Given the description of an element on the screen output the (x, y) to click on. 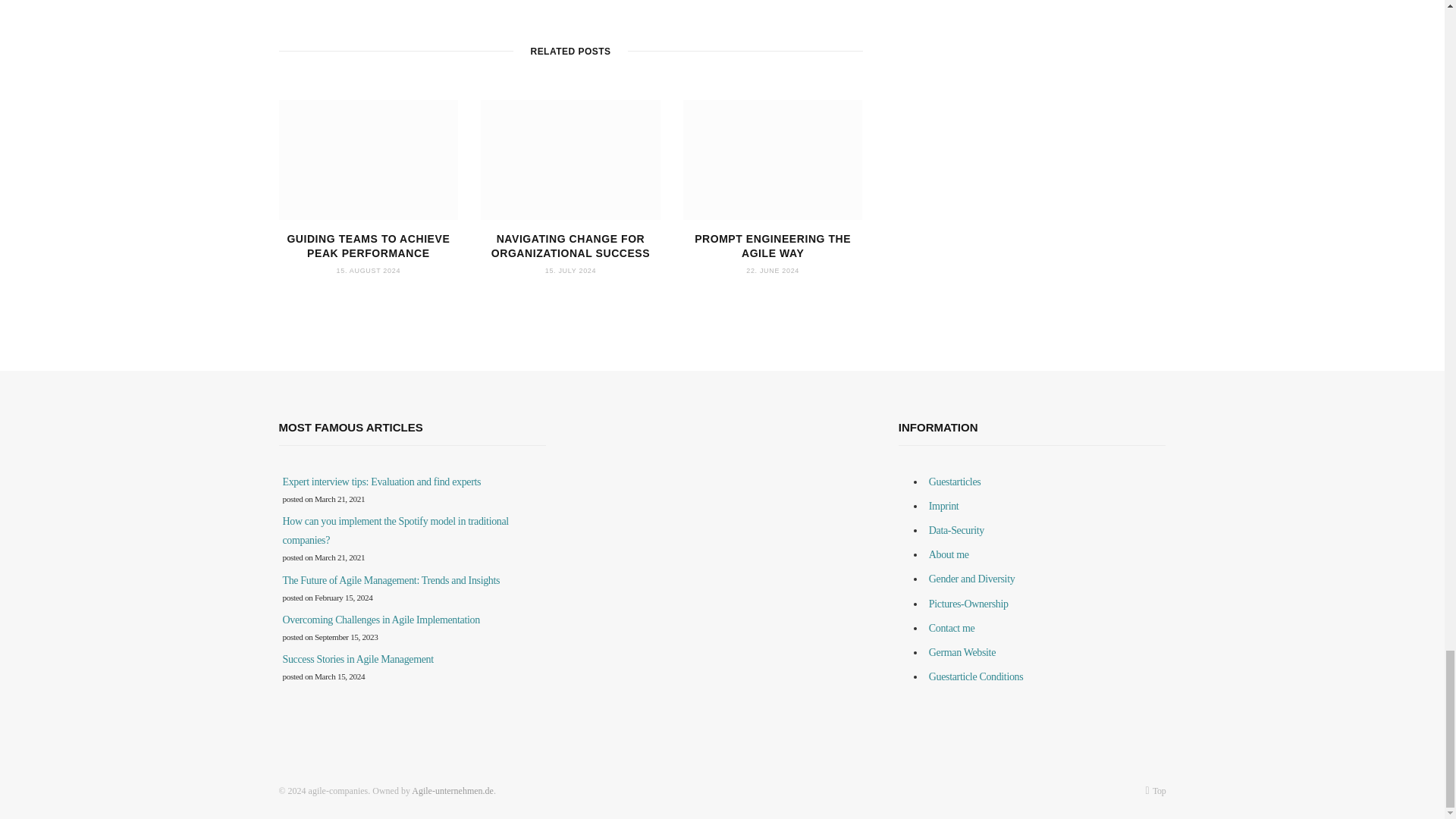
Navigating Change for Organizational Success (570, 159)
Prompt engineering the Agile way (772, 159)
Guiding Teams to Achieve Peak Performance (368, 159)
